Given the description of an element on the screen output the (x, y) to click on. 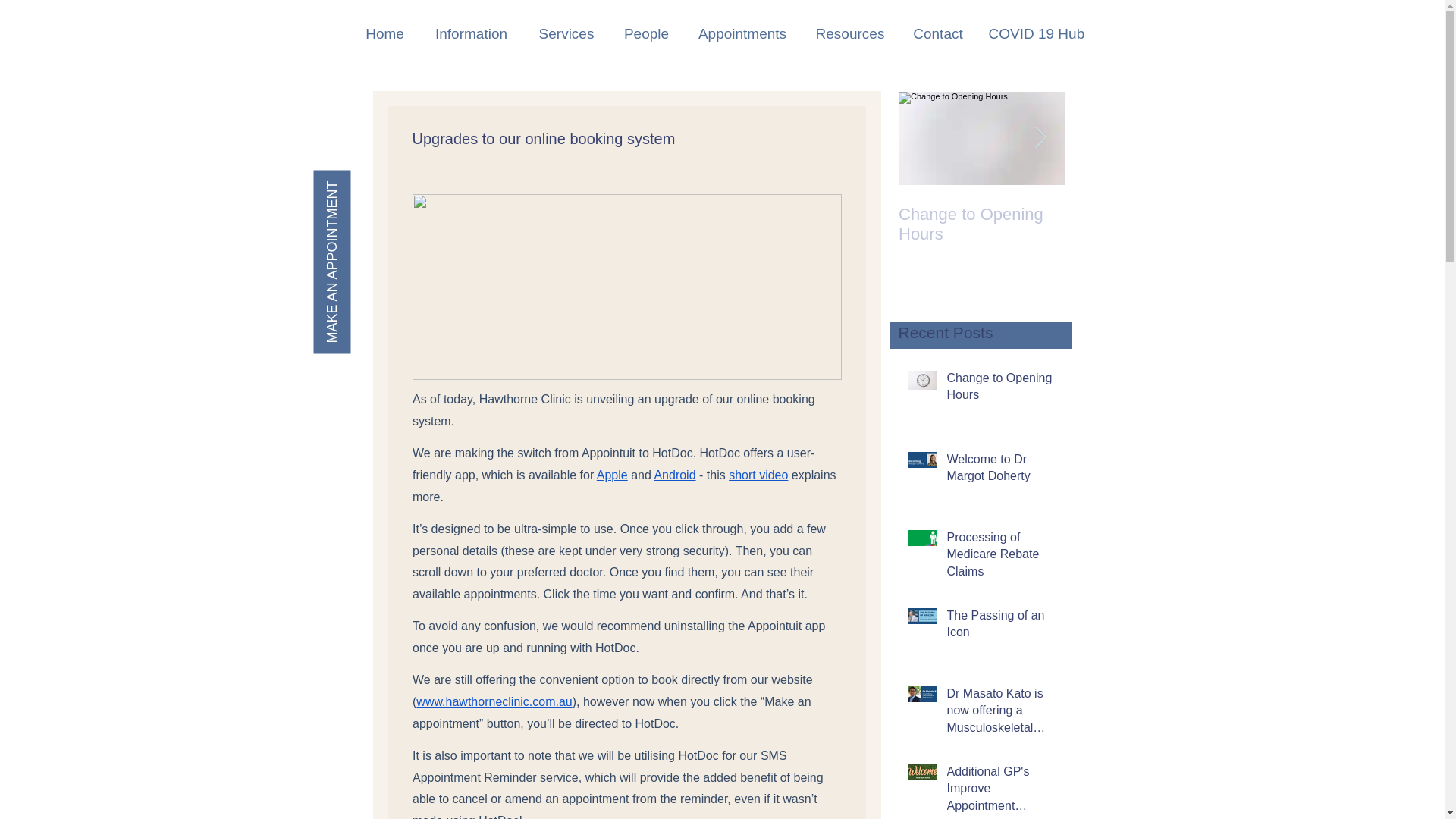
People (647, 33)
The Passing of an Icon (1000, 627)
Welcome to Dr Margot Doherty (1147, 224)
Contact (937, 33)
Home (384, 33)
Information (470, 33)
Change to Opening Hours (981, 224)
Additional GP's Improve Appointment Availability (1000, 791)
www.hawthorneclinic.com.au (494, 701)
